Given the description of an element on the screen output the (x, y) to click on. 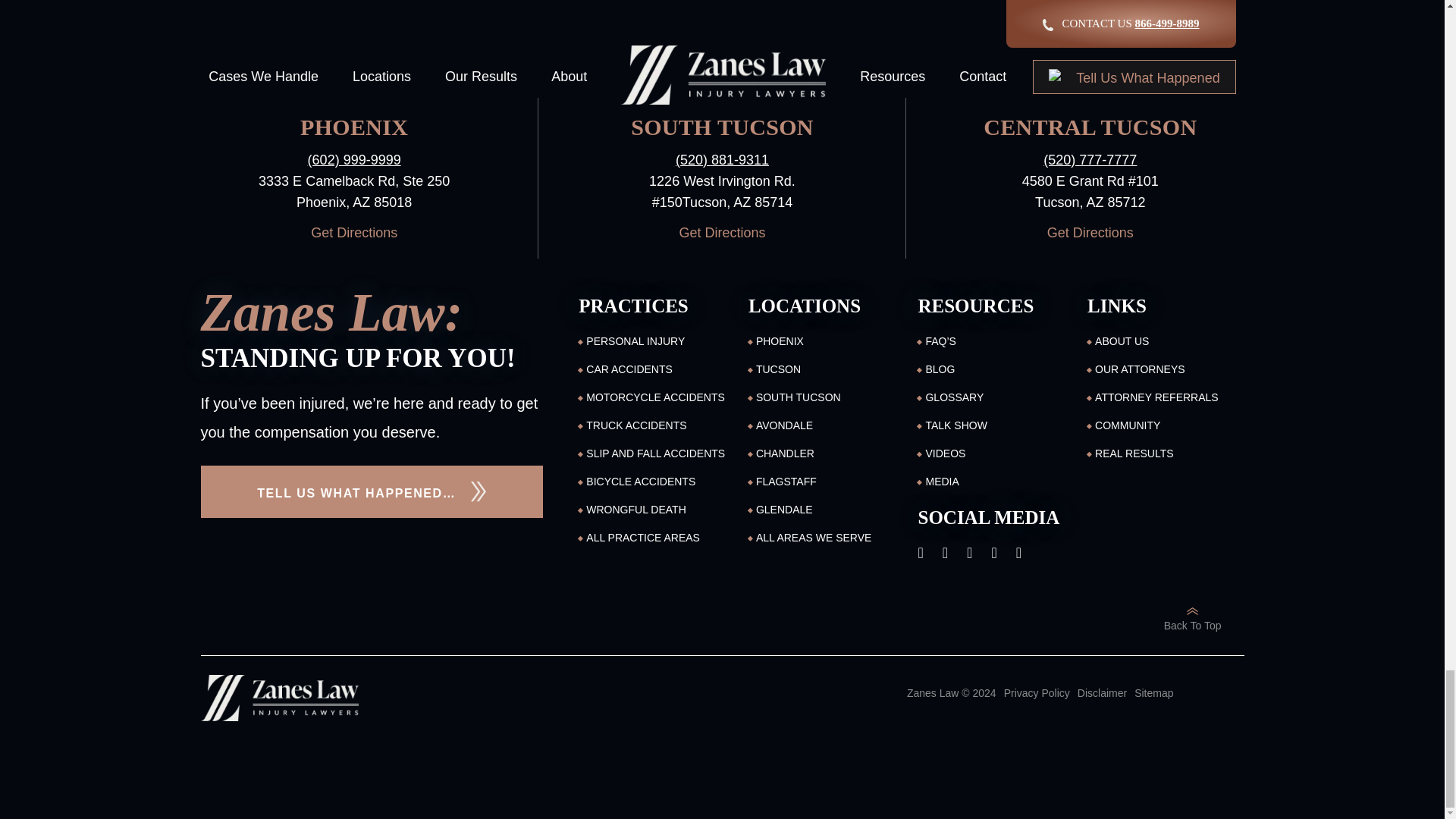
Zanes Law (279, 697)
Get Directions (1089, 232)
Get Directions (722, 232)
Sitemap (1153, 699)
Back To Top (1192, 617)
Tell us what happened (371, 491)
Get Directions (353, 232)
Disclaimer (1101, 699)
Privacy Policy (1037, 699)
